Given the description of an element on the screen output the (x, y) to click on. 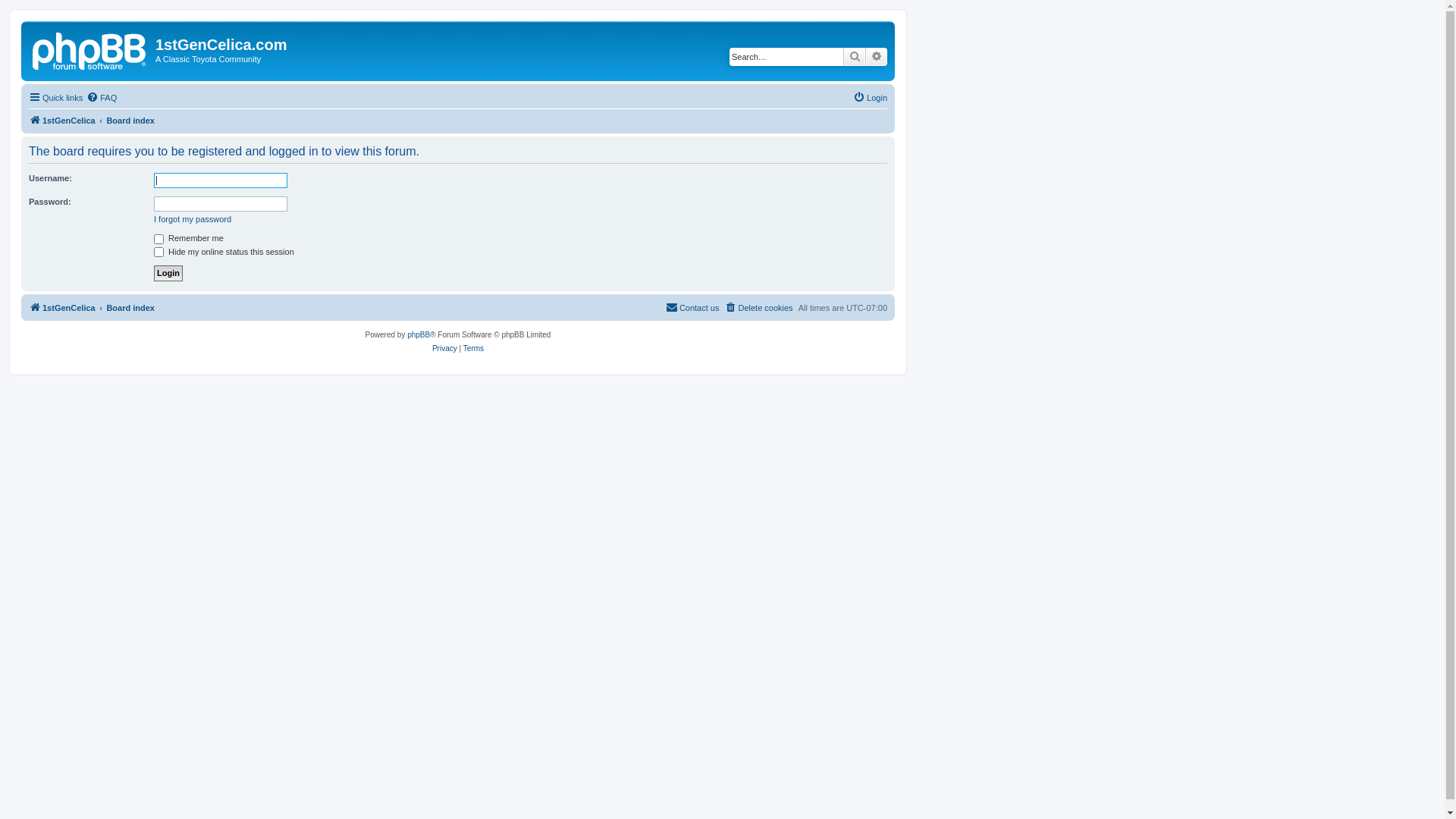
Quick links Element type: text (55, 97)
Advanced search Element type: text (876, 56)
Login Element type: text (870, 97)
1stGenCelica Element type: hover (90, 49)
Board index Element type: text (130, 120)
Board index Element type: text (130, 307)
Terms Element type: text (473, 348)
Login Element type: text (167, 273)
Delete cookies Element type: text (758, 307)
Search for keywords Element type: hover (786, 56)
Privacy Element type: text (444, 348)
I forgot my password Element type: text (192, 218)
1stGenCelica Element type: text (61, 120)
Contact us Element type: text (692, 307)
Search Element type: text (854, 56)
1stGenCelica Element type: text (61, 307)
FAQ Element type: text (101, 97)
phpBB Element type: text (418, 335)
